Given the description of an element on the screen output the (x, y) to click on. 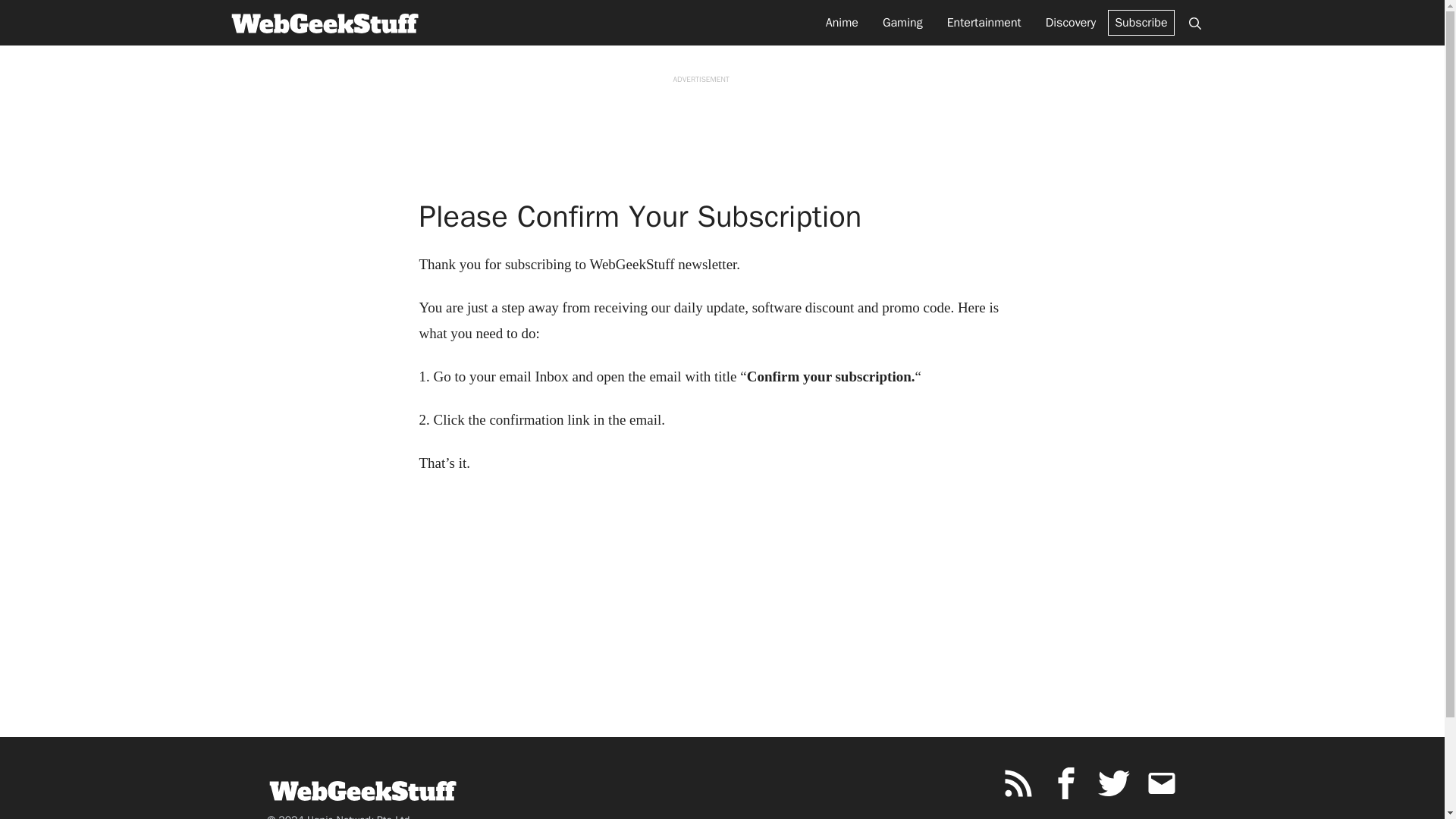
Gaming (902, 22)
Subscribe (1140, 22)
Subscribe (1140, 22)
Gaming (902, 22)
Anime (841, 22)
Search (1193, 22)
Entertainment (983, 22)
Anime (841, 22)
Entertainment (983, 22)
Discovery (1070, 22)
